Given the description of an element on the screen output the (x, y) to click on. 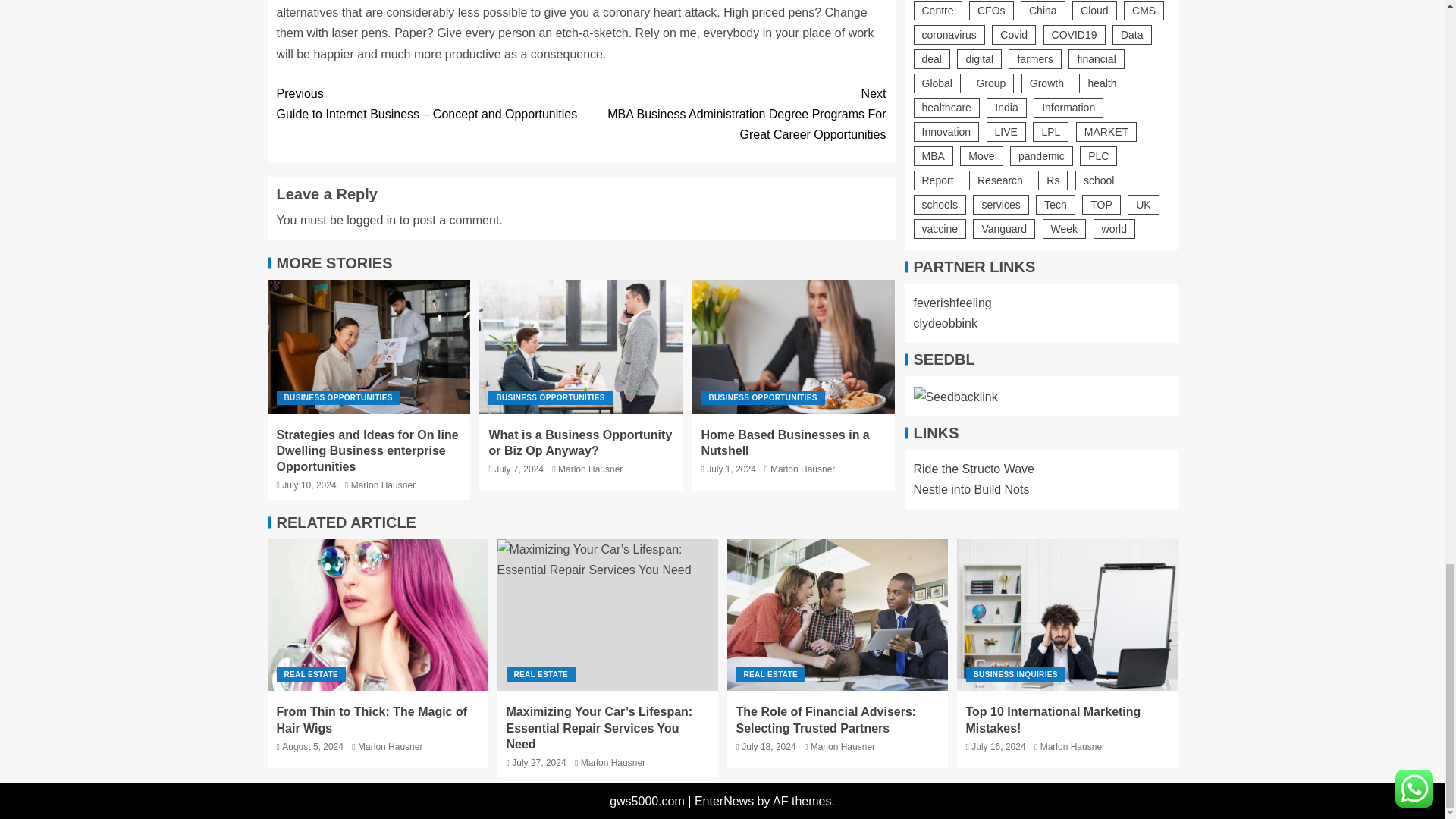
Home Based Businesses in a Nutshell (793, 347)
BUSINESS OPPORTUNITIES (337, 397)
Marlon Hausner (382, 484)
What is a Business Opportunity or Biz Op Anyway? (579, 442)
From Thin to Thick: The Magic of Hair Wigs (376, 614)
logged in (371, 219)
BUSINESS OPPORTUNITIES (549, 397)
